Given the description of an element on the screen output the (x, y) to click on. 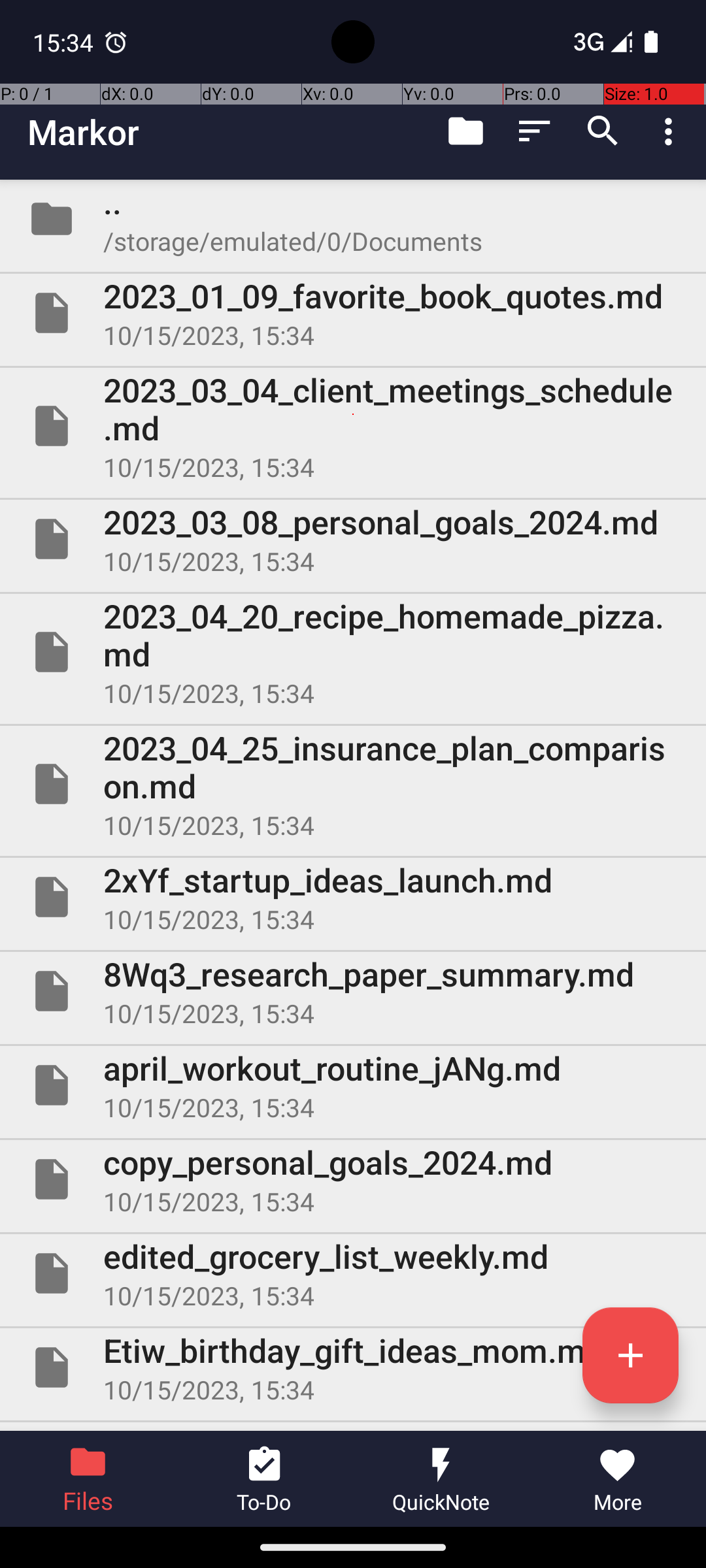
File 2023_01_09_favorite_book_quotes.md  Element type: android.widget.LinearLayout (353, 312)
File 2023_03_04_client_meetings_schedule.md  Element type: android.widget.LinearLayout (353, 425)
File 2023_03_08_personal_goals_2024.md  Element type: android.widget.LinearLayout (353, 538)
File 2023_04_20_recipe_homemade_pizza.md  Element type: android.widget.LinearLayout (353, 651)
File 2023_04_25_insurance_plan_comparison.md  Element type: android.widget.LinearLayout (353, 783)
File 2xYf_startup_ideas_launch.md  Element type: android.widget.LinearLayout (353, 896)
File 8Wq3_research_paper_summary.md  Element type: android.widget.LinearLayout (353, 990)
File april_workout_routine_jANg.md  Element type: android.widget.LinearLayout (353, 1084)
File copy_personal_goals_2024.md  Element type: android.widget.LinearLayout (353, 1179)
File edited_grocery_list_weekly.md  Element type: android.widget.LinearLayout (353, 1273)
File Etiw_birthday_gift_ideas_mom.md  Element type: android.widget.LinearLayout (353, 1367)
File J7k3_research_paper_summary.md  Element type: android.widget.LinearLayout (353, 1426)
